Given the description of an element on the screen output the (x, y) to click on. 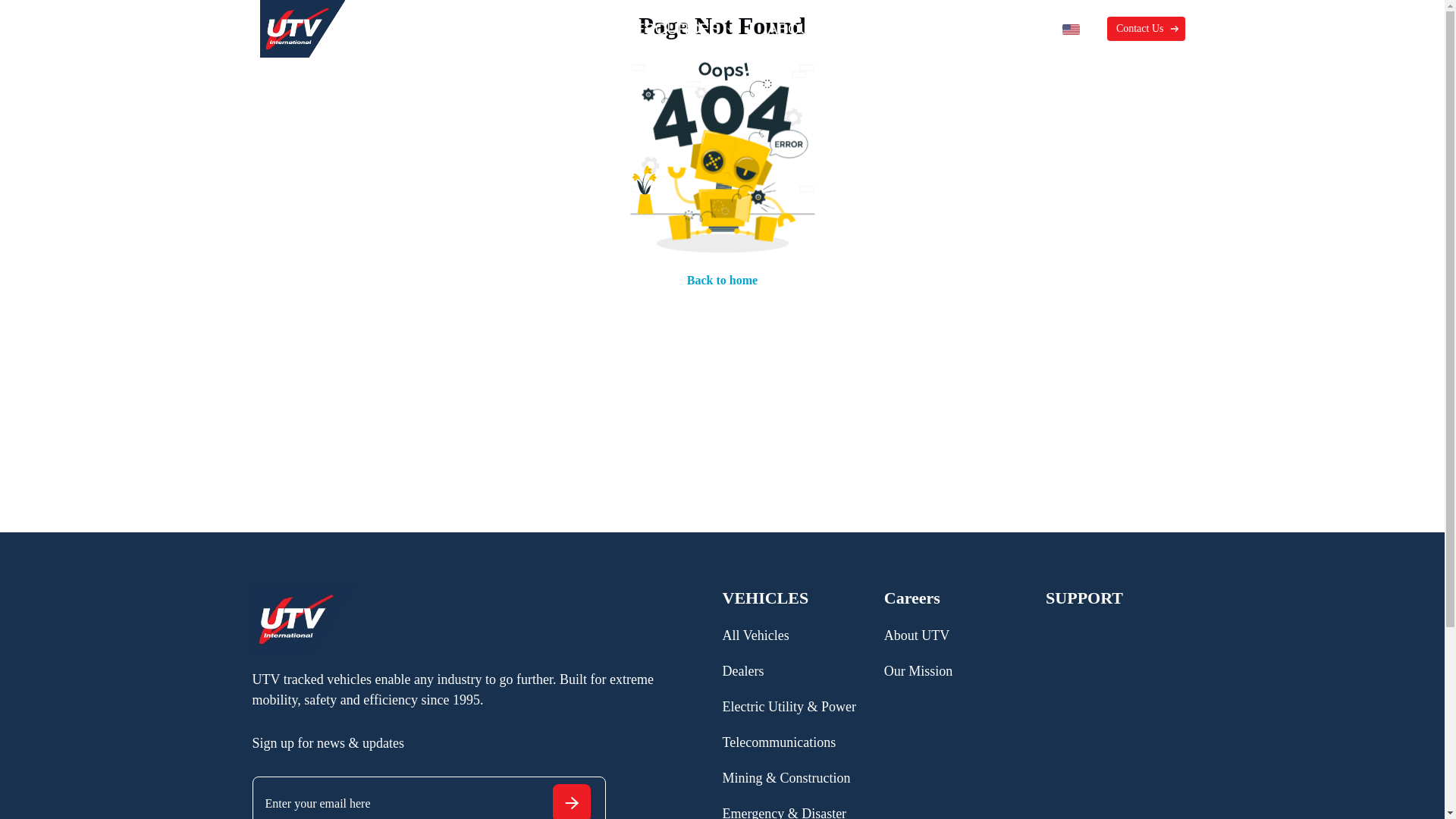
About UTV (916, 635)
RESOURCES (672, 28)
Dealers (742, 670)
Contact Us (1145, 28)
SUPPORT (928, 28)
Back to home (722, 280)
Telecommunications (778, 742)
VEHICLES (411, 28)
Our Mission (918, 670)
All Vehicles (755, 635)
INDUSTRIES (529, 28)
ABOUT US (805, 28)
SUPPORT (1083, 605)
